Given the description of an element on the screen output the (x, y) to click on. 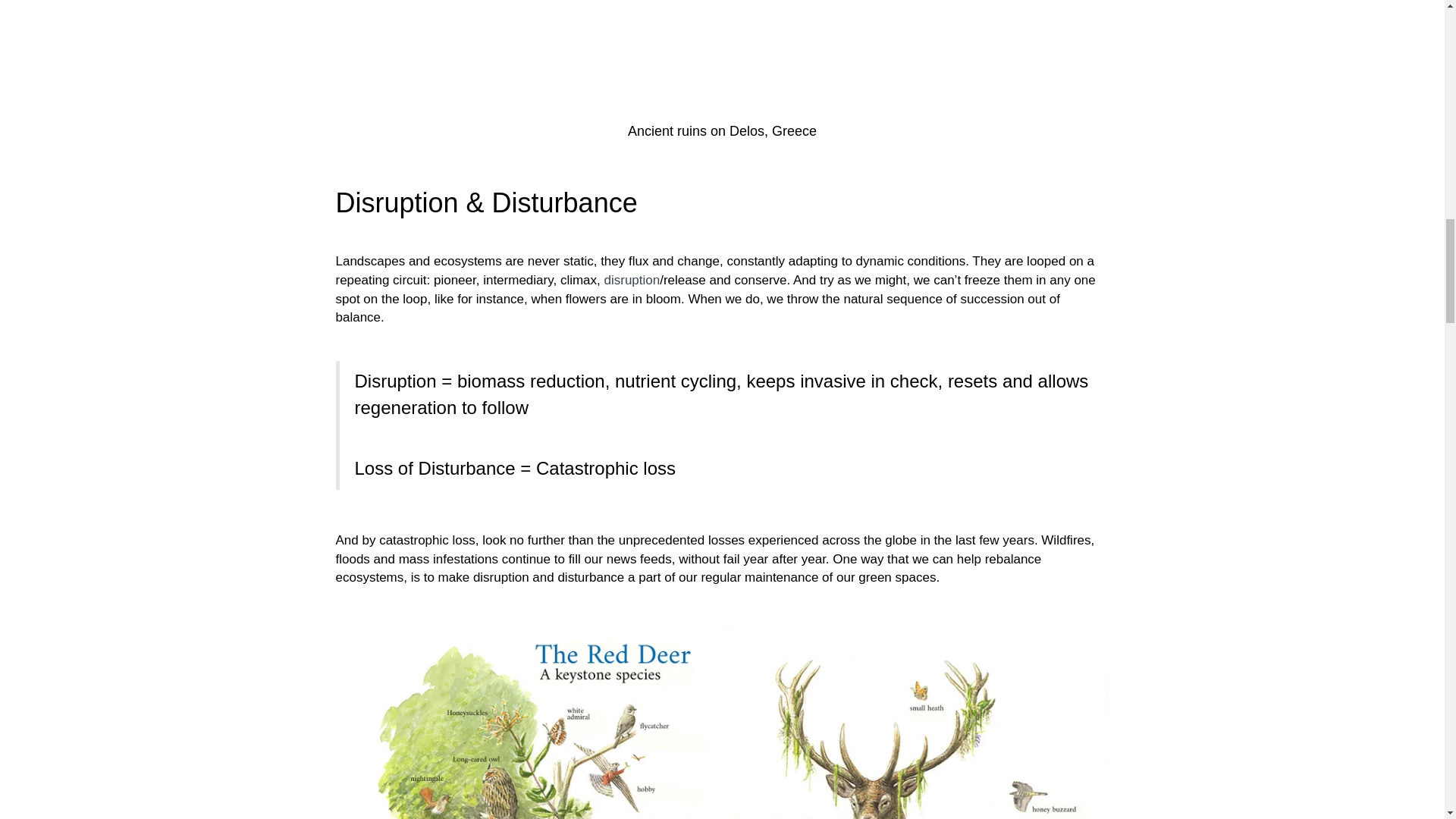
mediterranean ruins (722, 58)
disruption (632, 279)
